Given the description of an element on the screen output the (x, y) to click on. 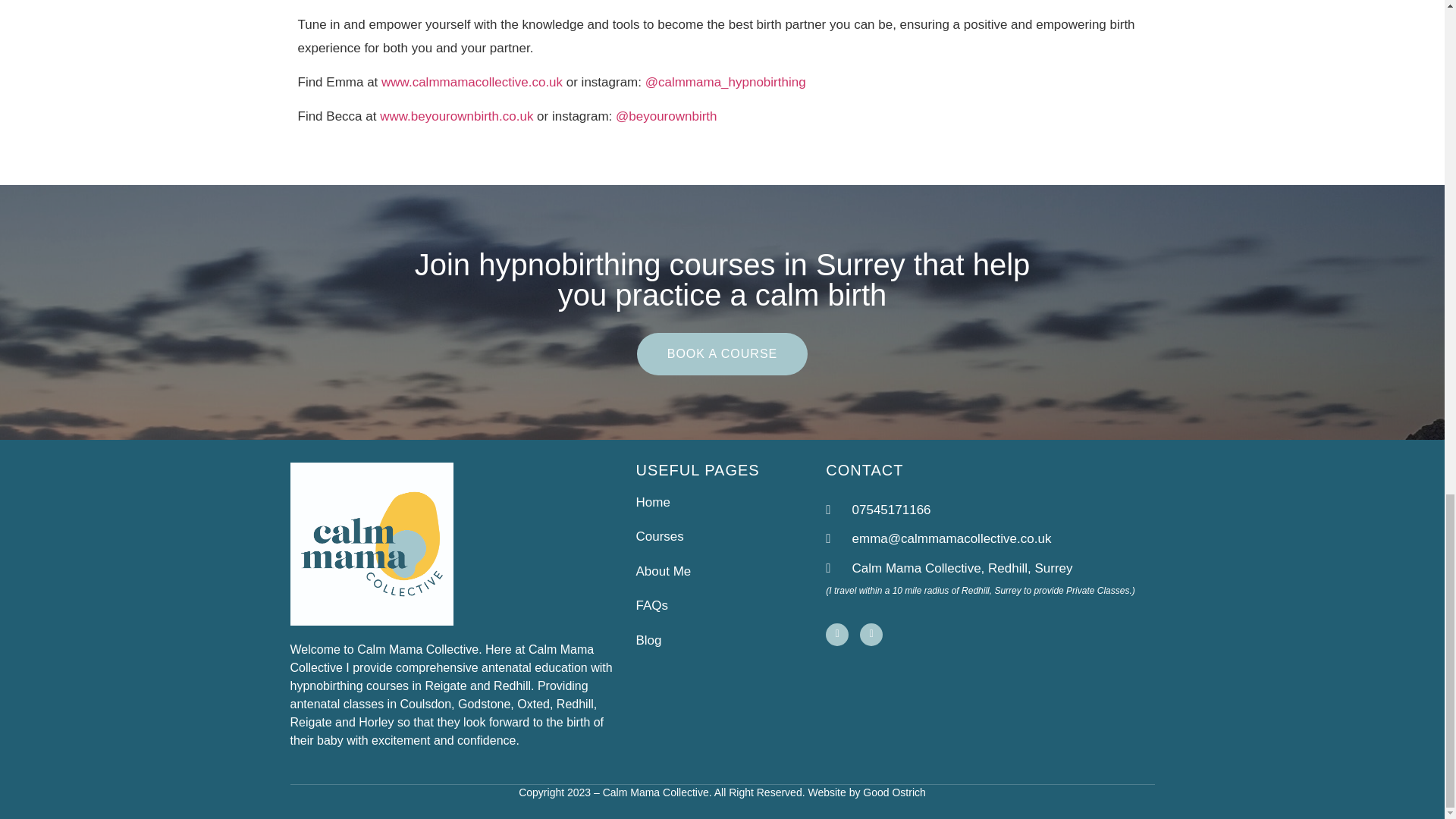
FAQs (729, 605)
Home (729, 502)
BOOK A COURSE (722, 353)
Blog (729, 640)
About Me (729, 571)
Courses (729, 537)
Good Ostrich (893, 792)
